Given the description of an element on the screen output the (x, y) to click on. 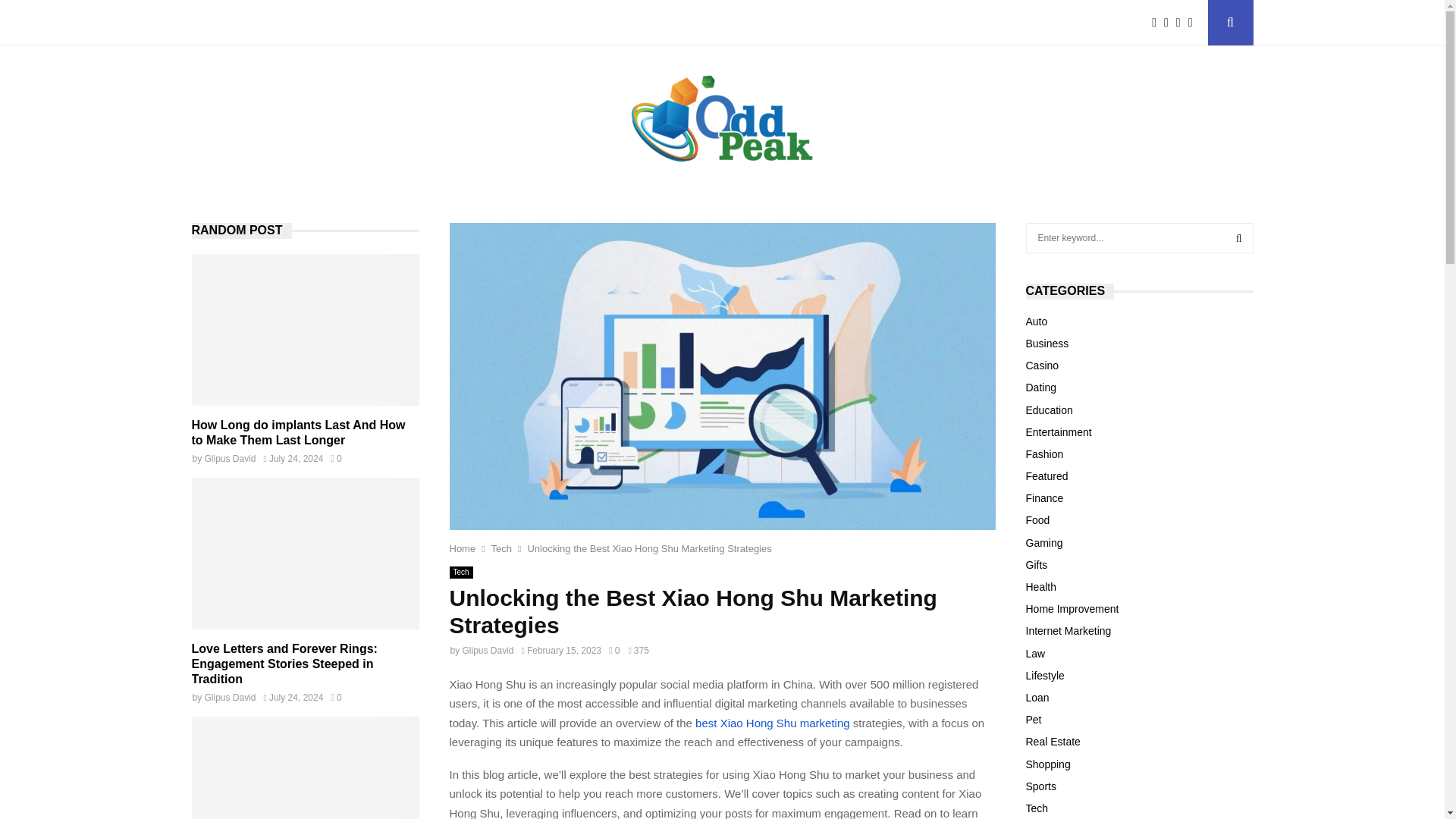
0 (614, 650)
Twitter (1169, 22)
Pinterest (1182, 22)
HOME (218, 22)
Home (462, 548)
best Xiao Hong Shu marketing (771, 721)
SHOPPING (485, 22)
Glipus David (488, 650)
TECH (419, 22)
CASINO (625, 22)
Linkedin (1193, 22)
Unlocking the Best Xiao Hong Shu Marketing Strategies (649, 548)
Tech (502, 548)
